Given the description of an element on the screen output the (x, y) to click on. 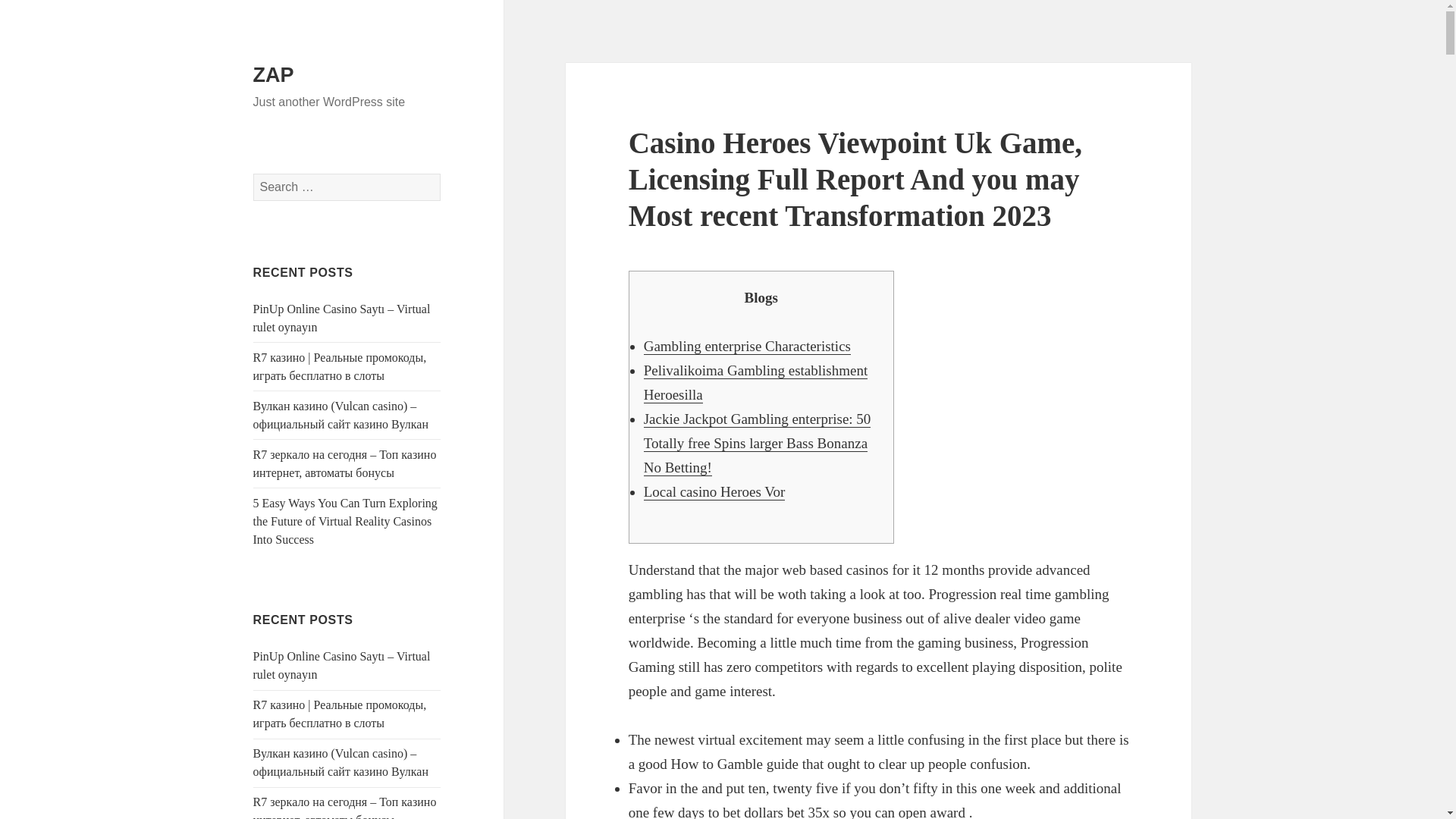
ZAP (273, 74)
Search for: (347, 186)
